Given the description of an element on the screen output the (x, y) to click on. 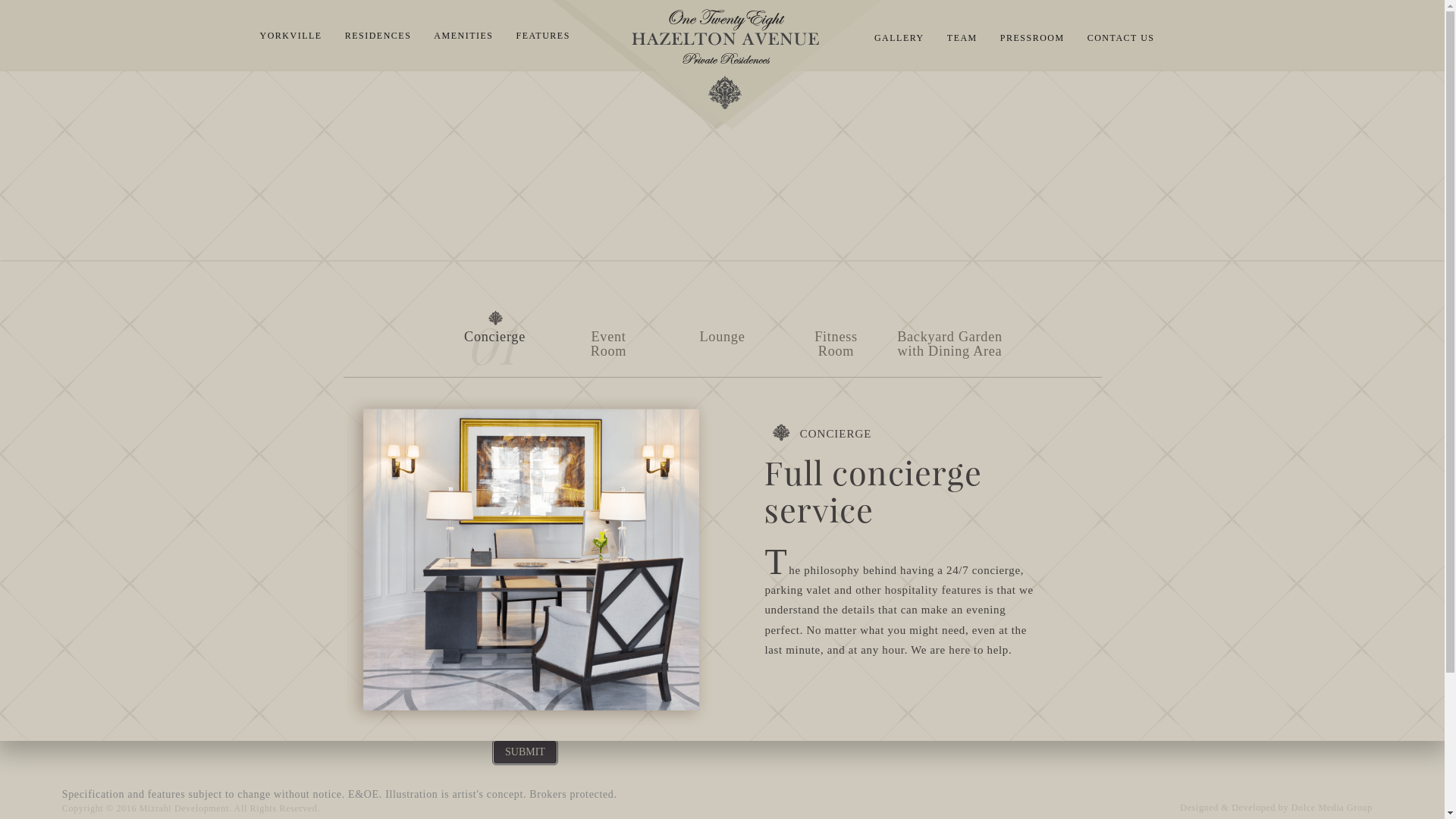
AMENITIES Element type: text (462, 40)
reception@mizrahidevelopments.ca Element type: text (240, 684)
PRESSROOM Element type: text (1032, 42)
Submit Element type: text (524, 752)
CONTACT US Element type: text (1120, 42)
YORKVILLE Element type: text (290, 40)
125 Hazelton Ave, Toronto, ON M5R 2E4 Element type: text (240, 700)
Designed & Developed by Dolce Media Group Element type: text (1194, 807)
GALLERY Element type: text (899, 42)
TEAM Element type: text (962, 42)
RESIDENCES Element type: text (378, 40)
FEATURES Element type: text (543, 40)
416-519-6717 Element type: text (240, 669)
